Given the description of an element on the screen output the (x, y) to click on. 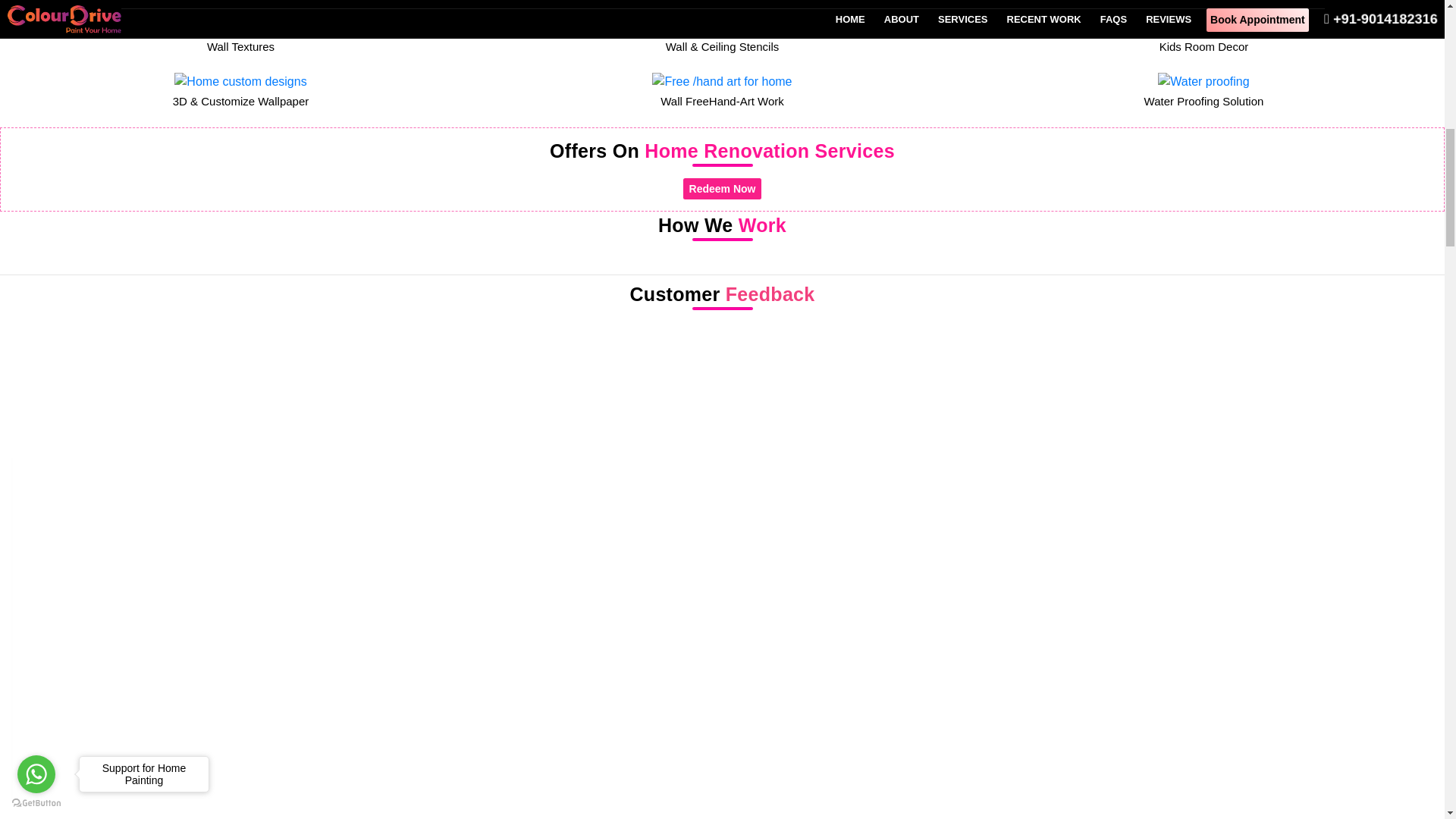
Water Proofing Solution (1204, 91)
Kids Room Decor (1204, 37)
Wall Textures (240, 37)
Wall FreeHand-Art Work (722, 91)
Redeem Now (721, 188)
